Given the description of an element on the screen output the (x, y) to click on. 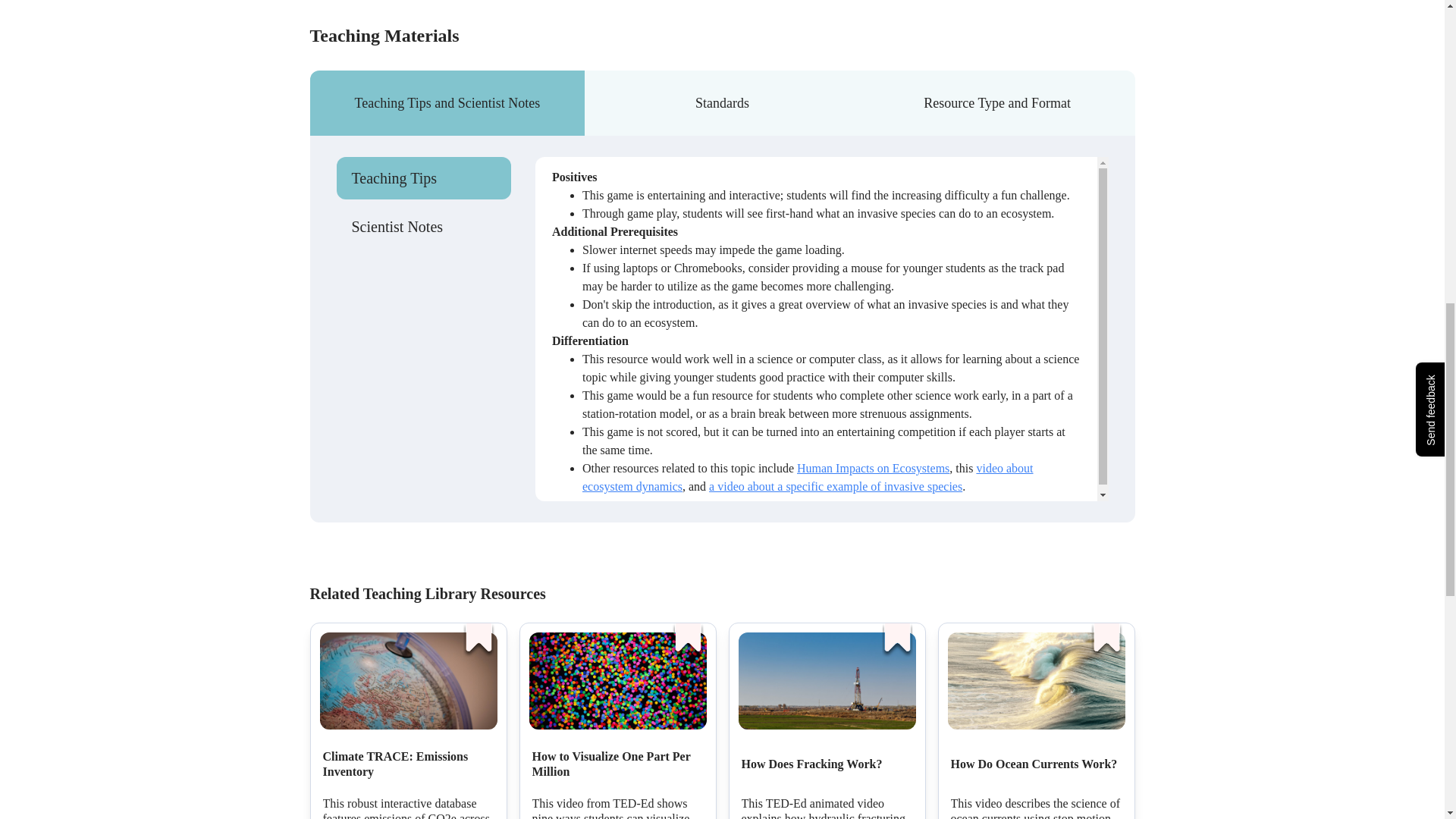
Teaching Tips and Scientist Notes (446, 102)
video about ecosystem dynamics (807, 477)
How Do Ocean Currents Work? (1034, 764)
Resource Type and Format (997, 102)
Human Impacts on Ecosystems (872, 468)
How to Visualize One Part Per Million (617, 764)
How Does Fracking Work? (811, 764)
Standards (722, 102)
Teaching Tips (424, 178)
a video about a specific example of invasive species (835, 486)
